Given the description of an element on the screen output the (x, y) to click on. 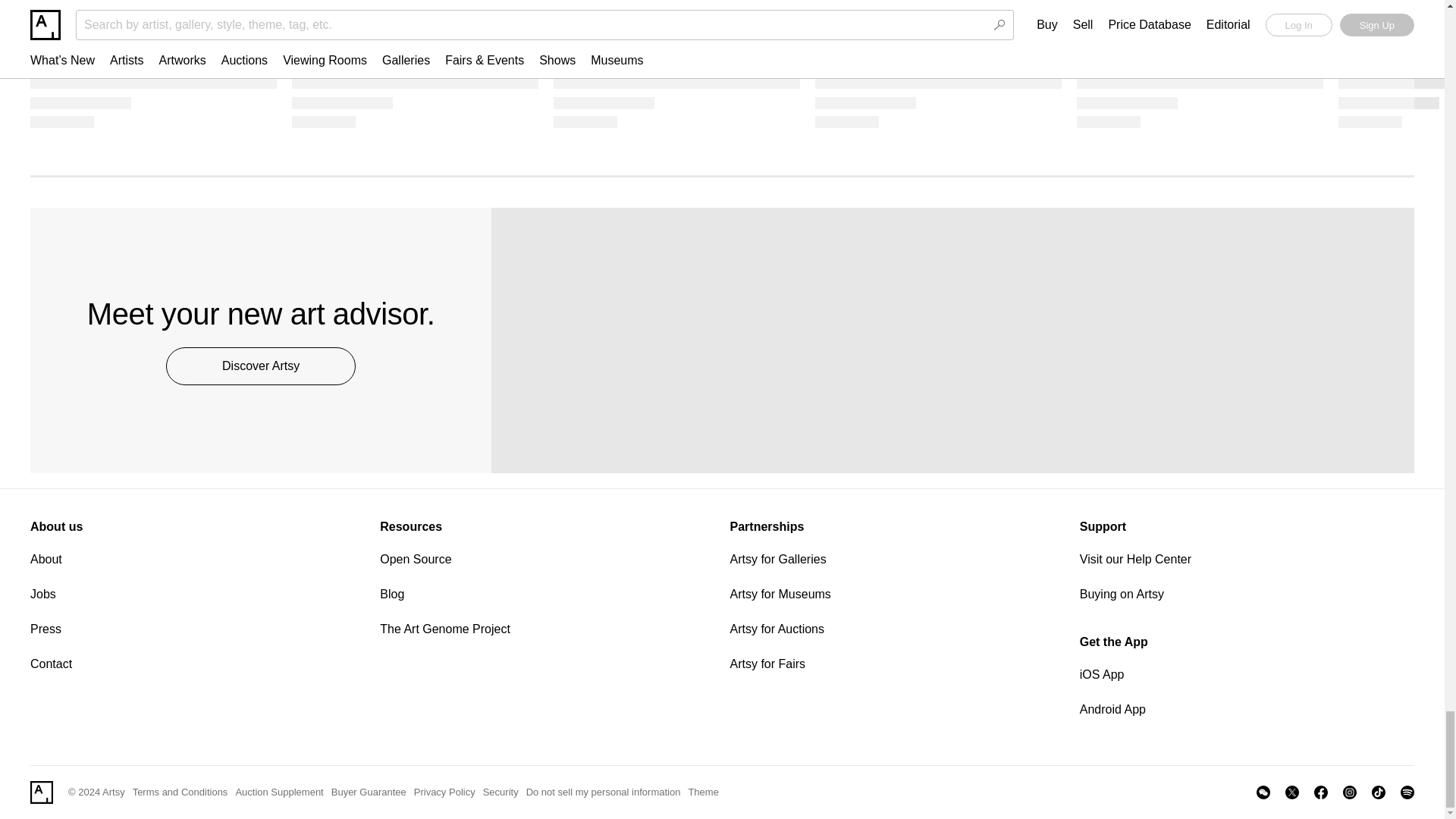
Artsy (41, 792)
Discover Artsy (260, 365)
About (197, 559)
